Given the description of an element on the screen output the (x, y) to click on. 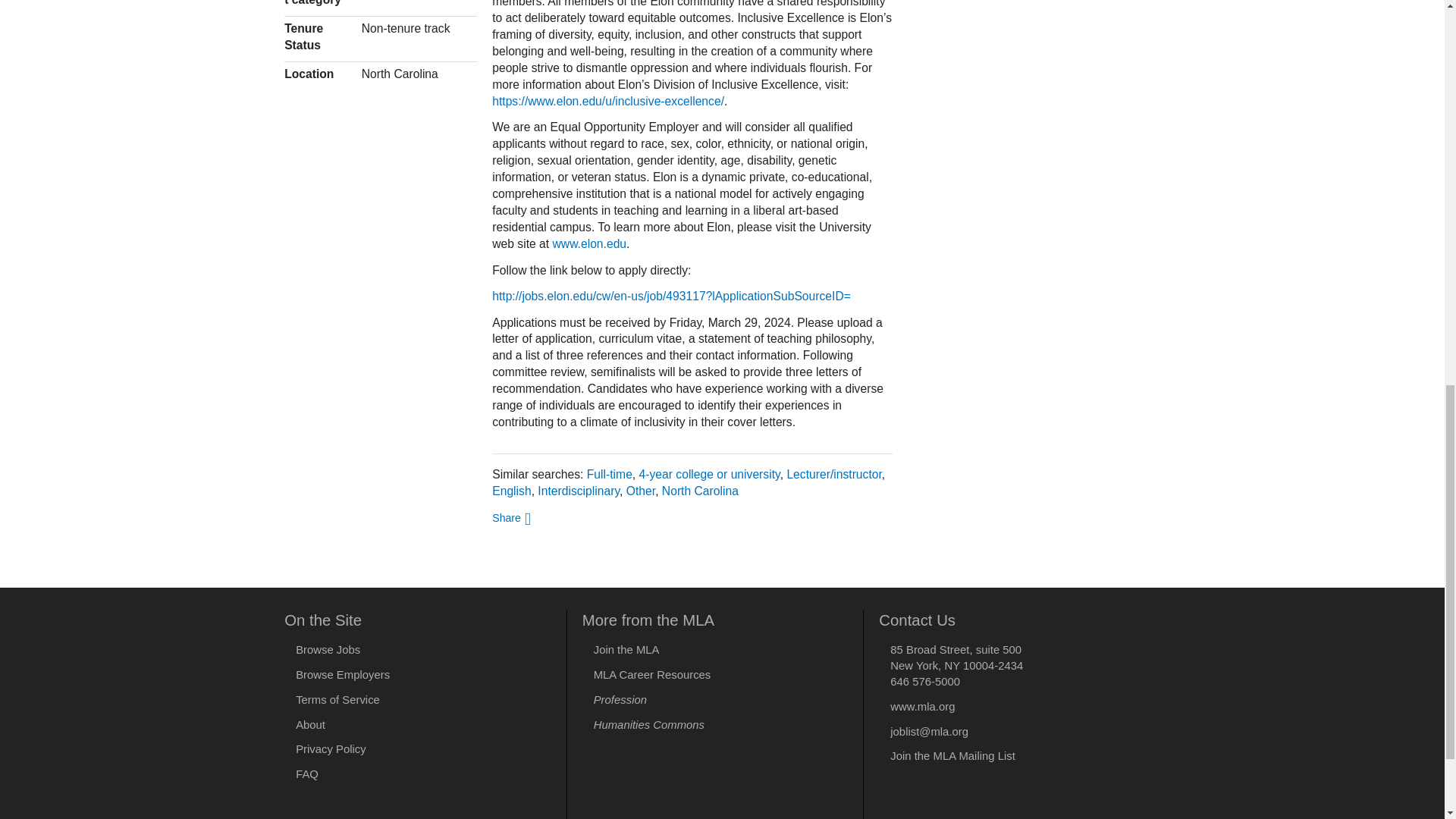
4-year college or university (709, 473)
North Carolina (700, 490)
English (511, 490)
Interdisciplinary (578, 490)
About (309, 725)
Browse Jobs (327, 649)
Browse Employers (342, 674)
www.elon.edu (588, 243)
Terms of Service (337, 699)
Other (640, 490)
Share (511, 517)
Full-time (608, 473)
